Given the description of an element on the screen output the (x, y) to click on. 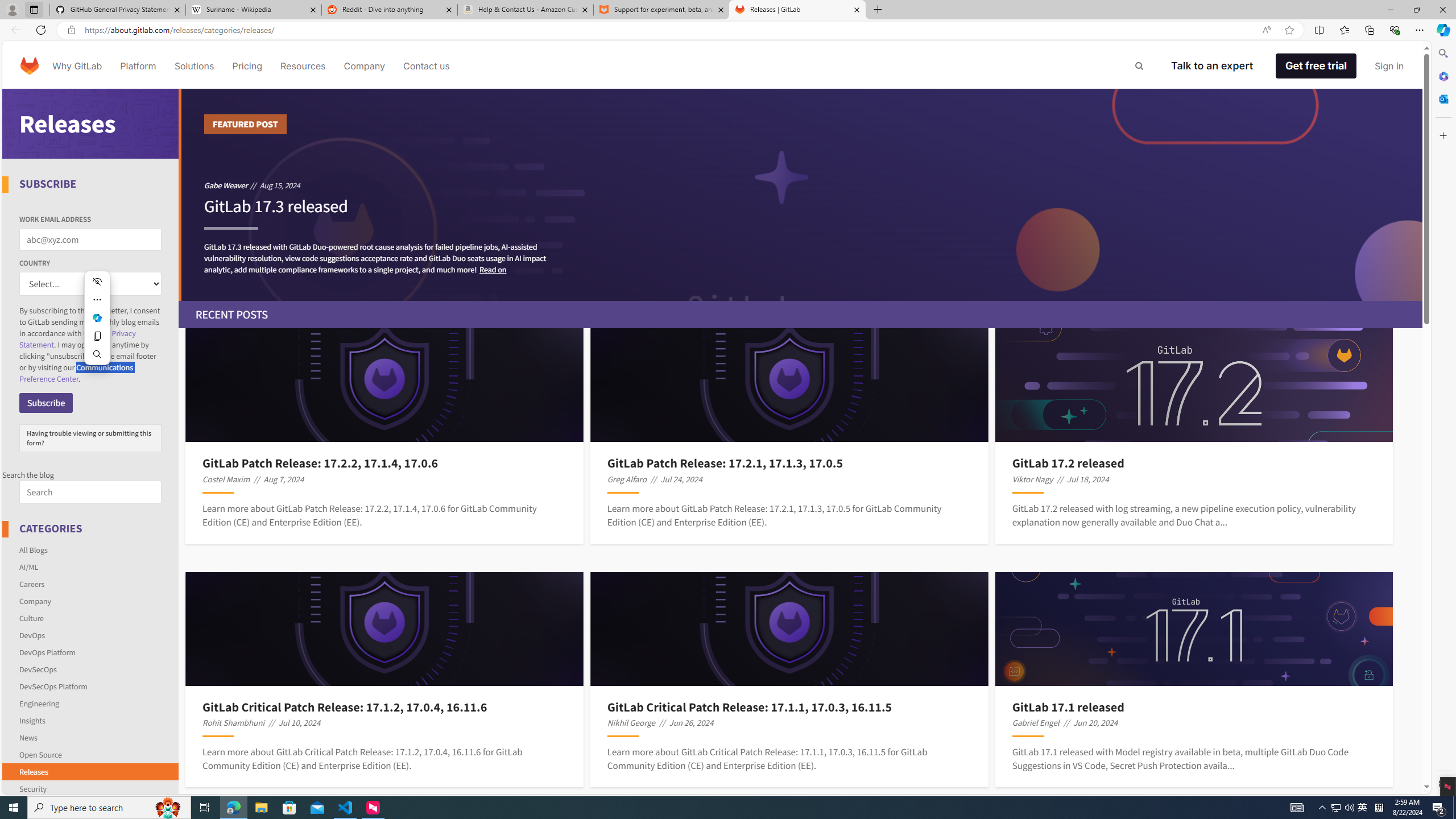
Platform (138, 65)
GitLab Critical Patch Release: 17.1.1, 17.0.3, 16.11.5 (789, 706)
Read on (492, 269)
Resources (302, 65)
Copy (96, 335)
GitLab's Privacy Statement (76, 339)
Security (32, 788)
Reddit - Dive into anything (390, 9)
Solutions (193, 65)
Why GitLab (77, 65)
Culture (30, 617)
Greg Alfaro (626, 478)
